Given the description of an element on the screen output the (x, y) to click on. 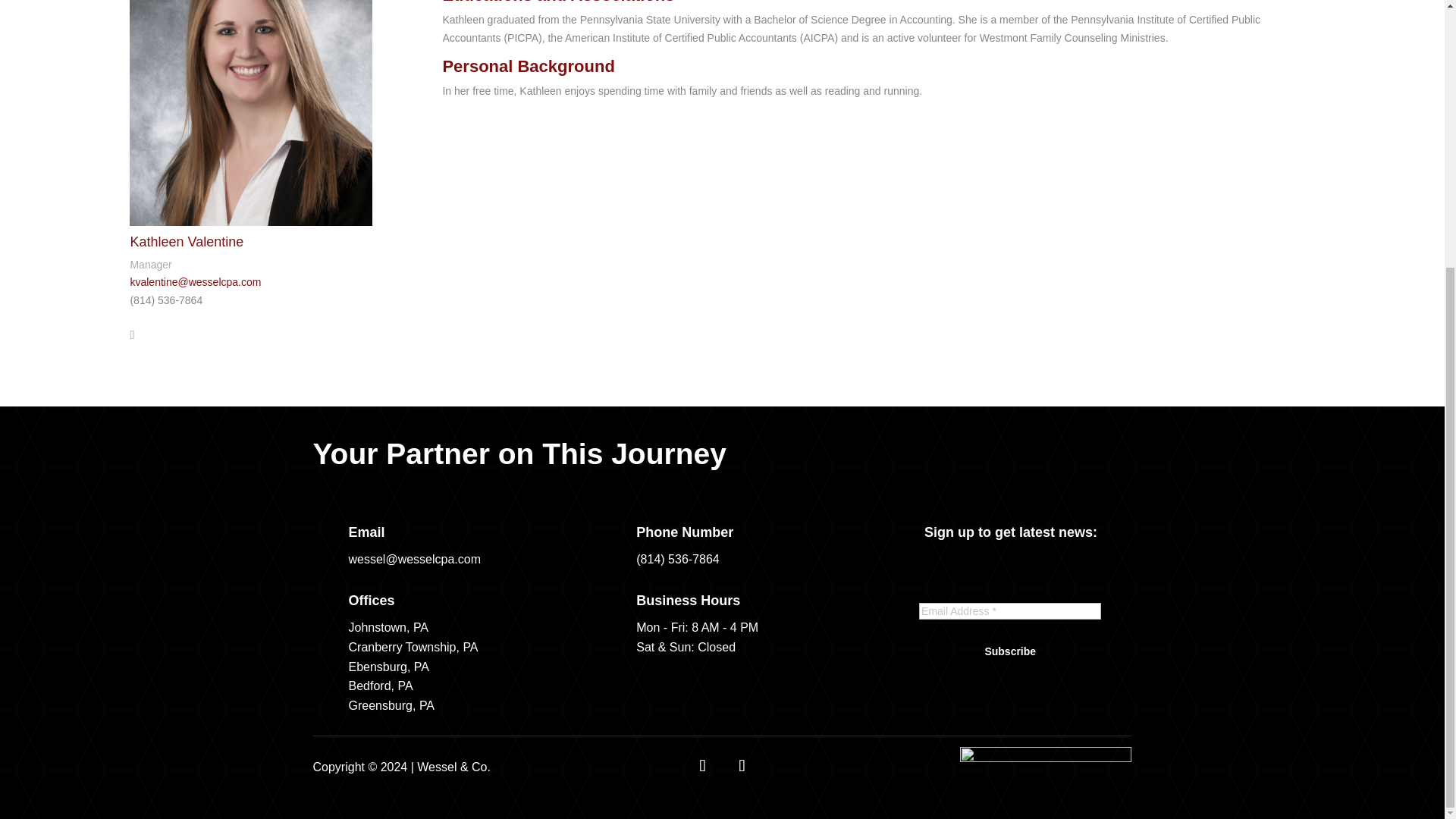
Follow on LinkedIn (741, 765)
Follow on Facebook (702, 765)
